Given the description of an element on the screen output the (x, y) to click on. 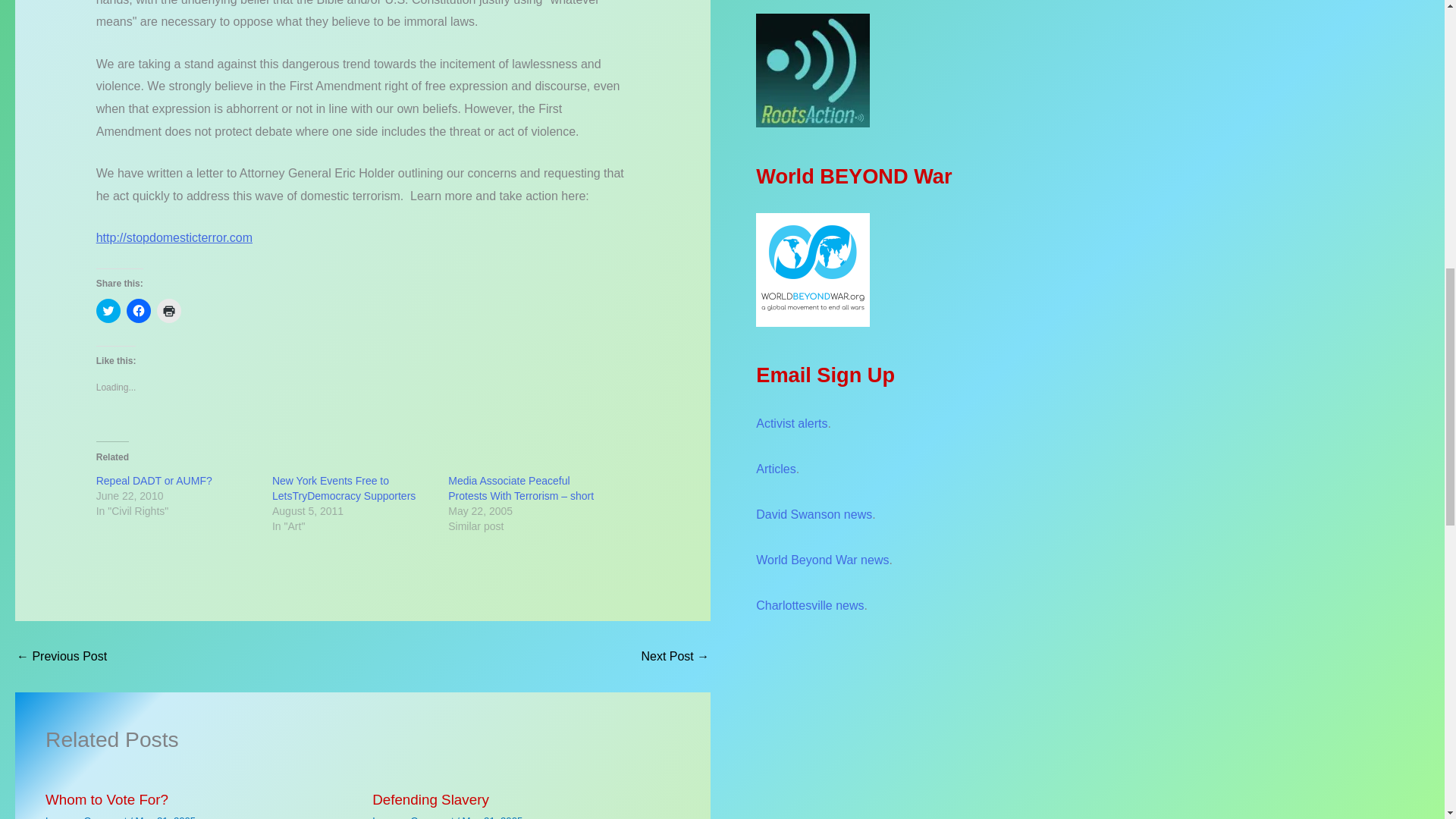
Your Daily Flashback of Real ACORN News (61, 656)
Click to share on Facebook (138, 310)
ACORN Versus Serious Criminals: Defund Lockheed (674, 656)
Repeal DADT or AUMF? (154, 480)
New York Events Free to LetsTryDemocracy Supporters (343, 488)
Click to print (168, 310)
Click to share on Twitter (108, 310)
Repeal DADT or AUMF? (154, 480)
